Given the description of an element on the screen output the (x, y) to click on. 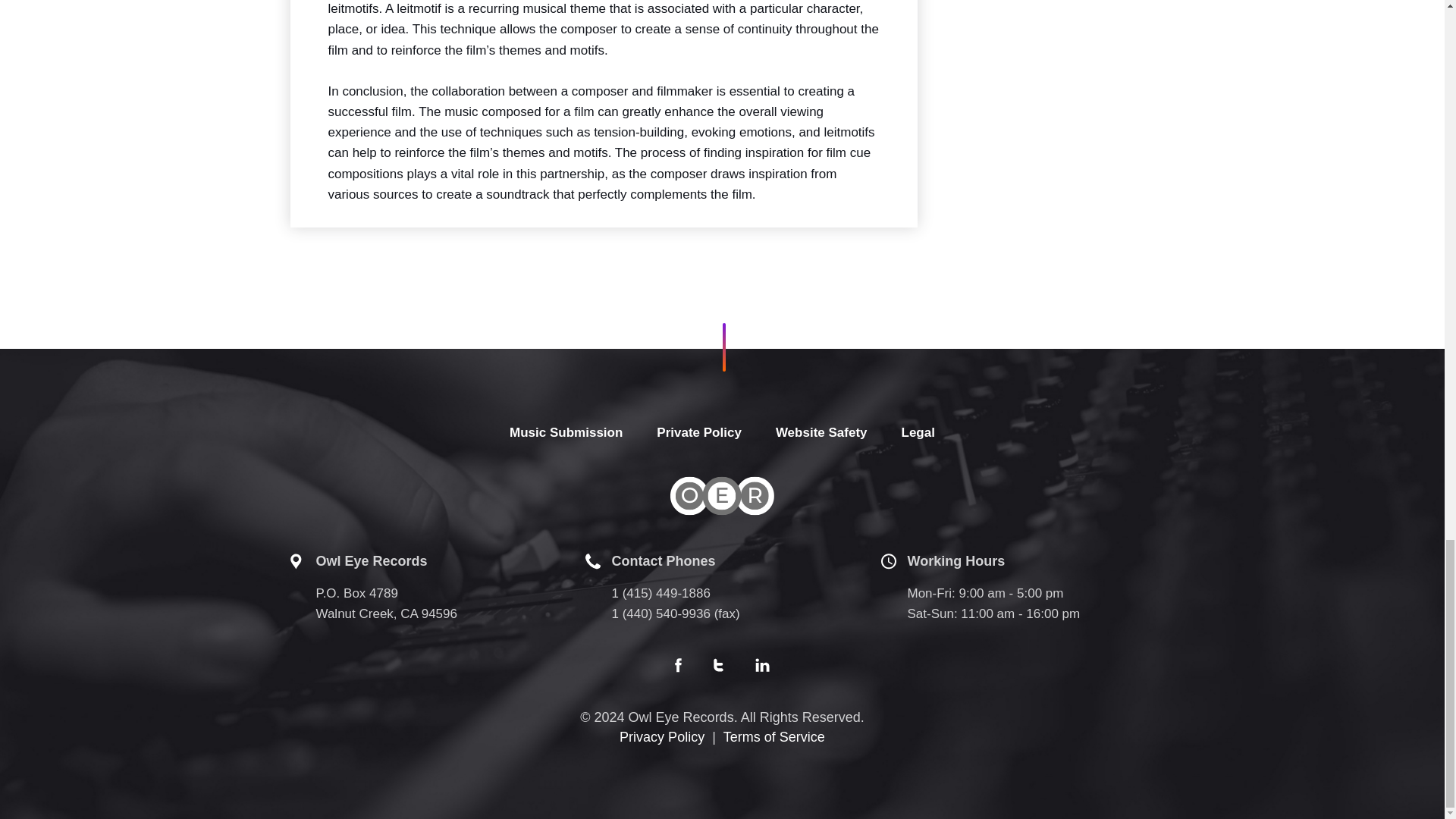
Terms of Service (774, 736)
Privacy Policy (698, 432)
Private Policy (698, 432)
Website Safety (821, 432)
Website Safety (821, 432)
Music Submission (566, 432)
Privacy Policy (662, 736)
Legal (917, 432)
Submit Music (566, 432)
Legal (917, 432)
